Given the description of an element on the screen output the (x, y) to click on. 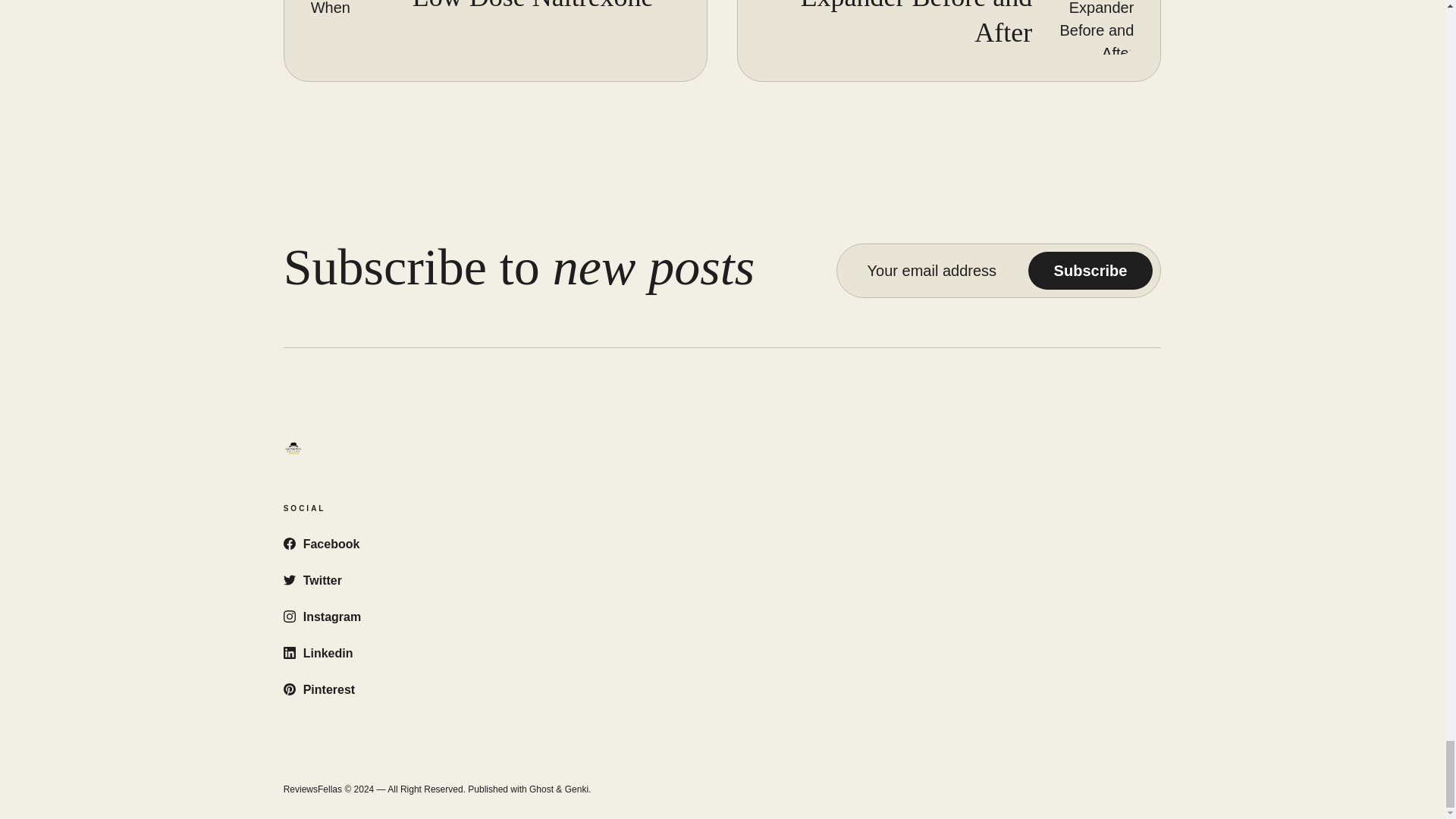
Facebook (321, 543)
Subscribe (1090, 270)
Twitter (312, 580)
Must Avoid These 5 Things: When Taking Low Dose Naltrexone (532, 6)
